Given the description of an element on the screen output the (x, y) to click on. 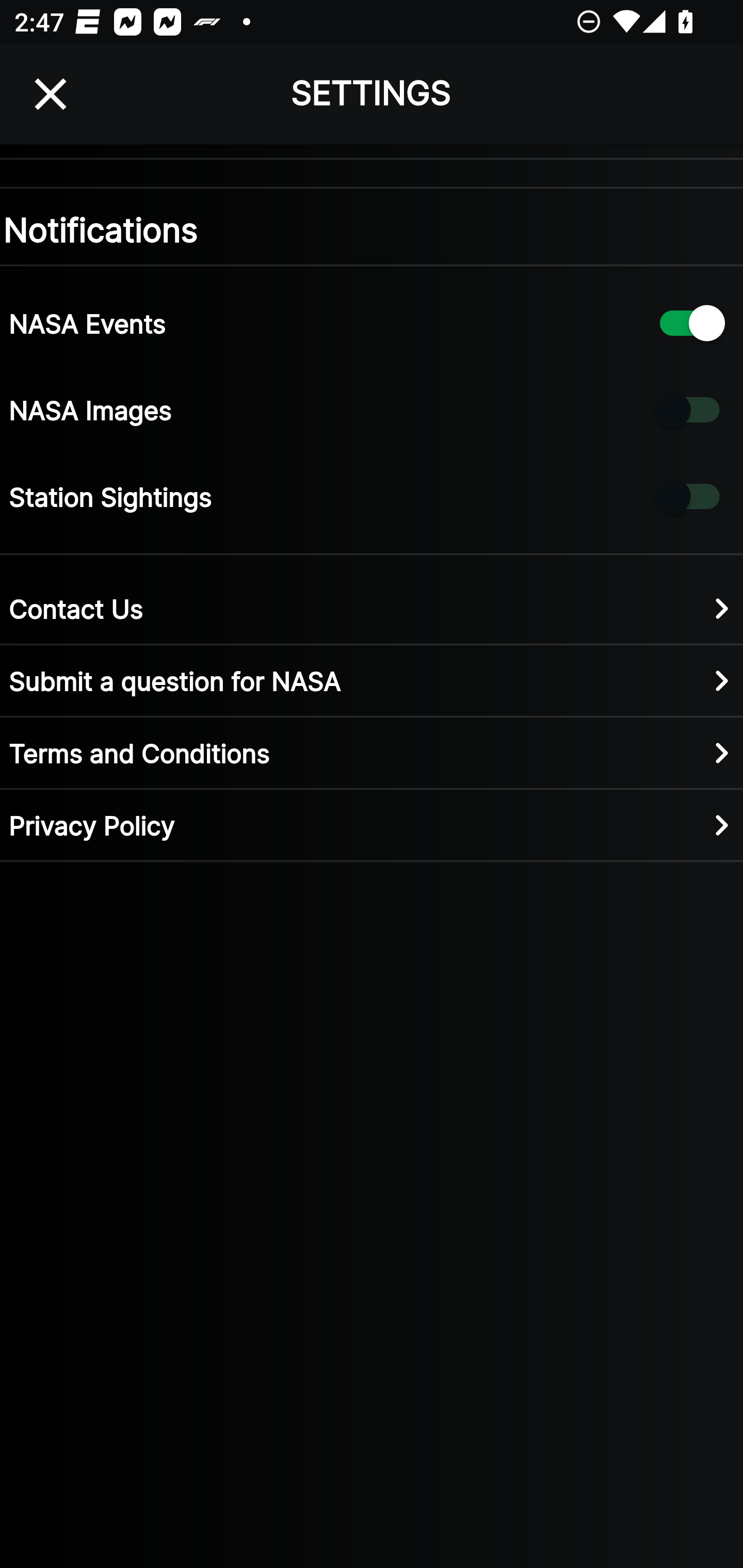
Contact Us (371, 608)
Submit a question for NASA (371, 680)
Terms and Conditions (371, 752)
Privacy Policy (371, 824)
